Given the description of an element on the screen output the (x, y) to click on. 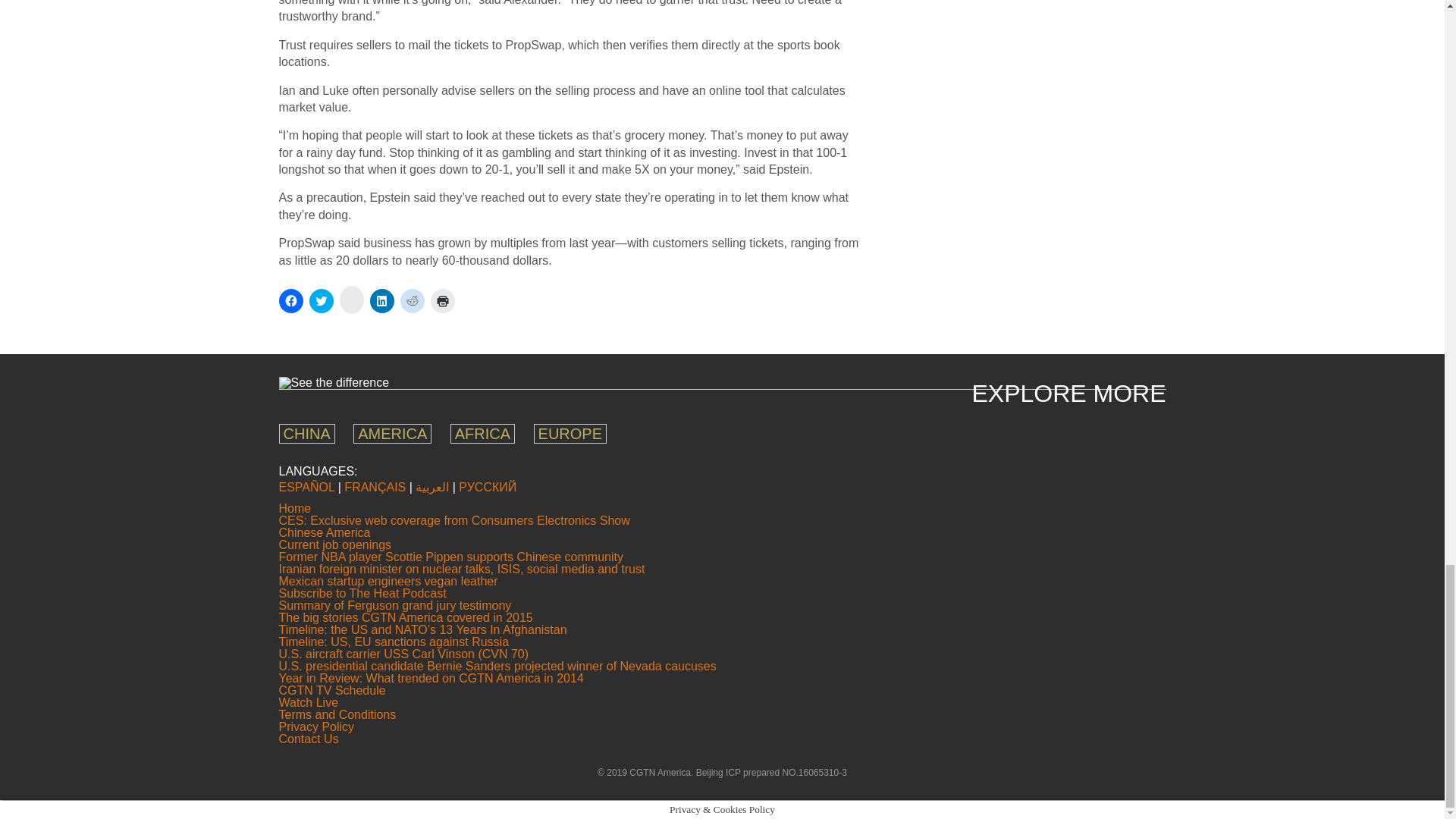
Click to share on Facebook (290, 300)
Click to share on Reddit (412, 300)
Click to share on LinkedIn (381, 300)
Click to share on Twitter (320, 300)
